Given the description of an element on the screen output the (x, y) to click on. 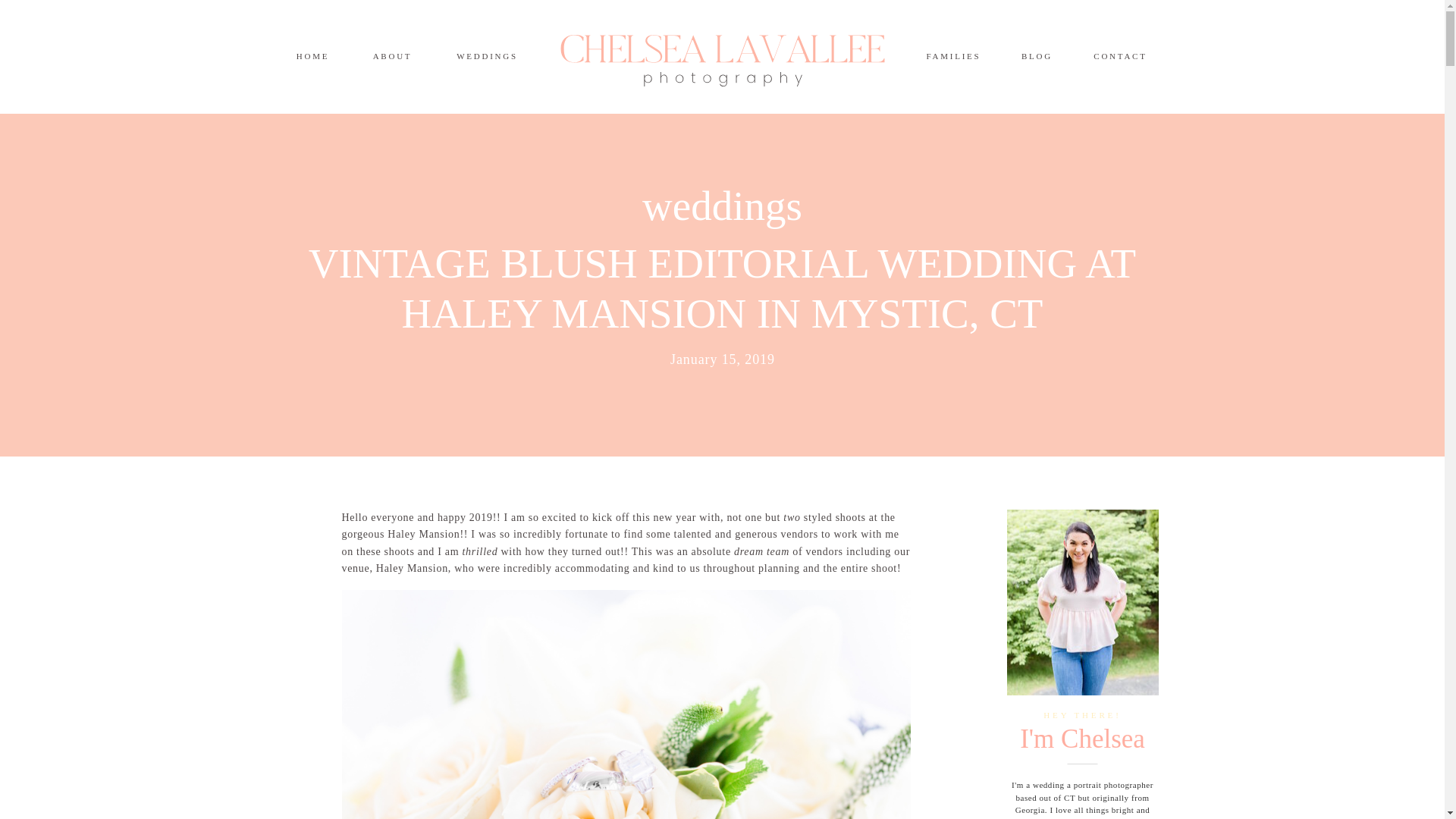
weddings (722, 205)
CONTACT (1120, 56)
FAMILIES (953, 56)
WEDDINGS (486, 56)
BLOG (1036, 56)
HOME (312, 56)
ABOUT (392, 56)
